Given the description of an element on the screen output the (x, y) to click on. 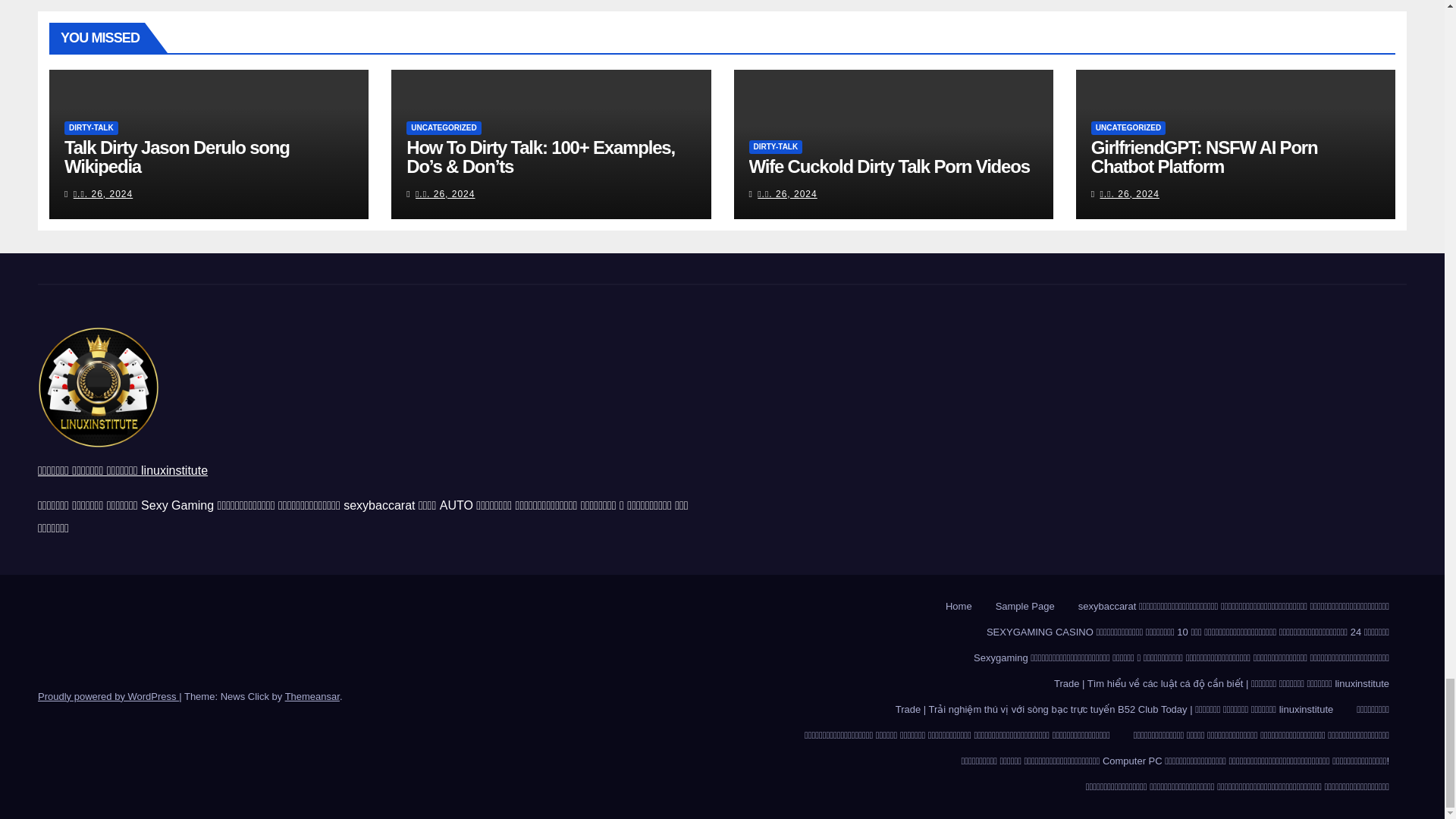
Permalink to: Talk Dirty Jason Derulo song Wikipedia (176, 156)
